Given the description of an element on the screen output the (x, y) to click on. 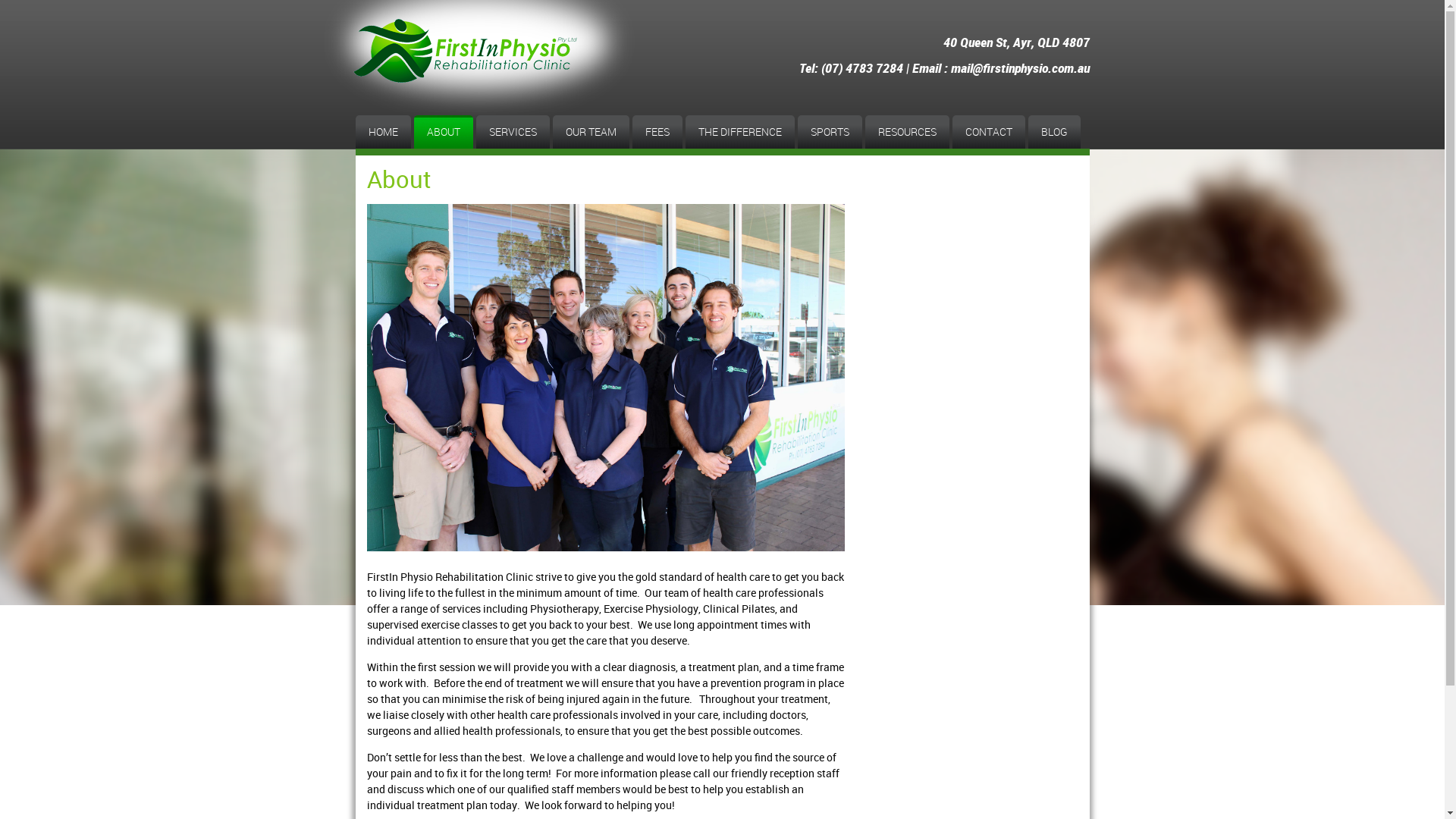
CONTACT Element type: text (988, 131)
mail@firstinphysio.com.au Element type: text (1019, 67)
Skip to content Element type: text (391, 124)
RESOURCES Element type: text (906, 131)
First in Physio Element type: hover (501, 57)
ABOUT Element type: text (443, 131)
SPORTS Element type: text (829, 131)
HOME Element type: text (382, 131)
THE DIFFERENCE Element type: text (739, 131)
SERVICES Element type: text (512, 131)
FEES Element type: text (657, 131)
BLOG Element type: text (1054, 131)
OUR TEAM Element type: text (590, 131)
